Given the description of an element on the screen output the (x, y) to click on. 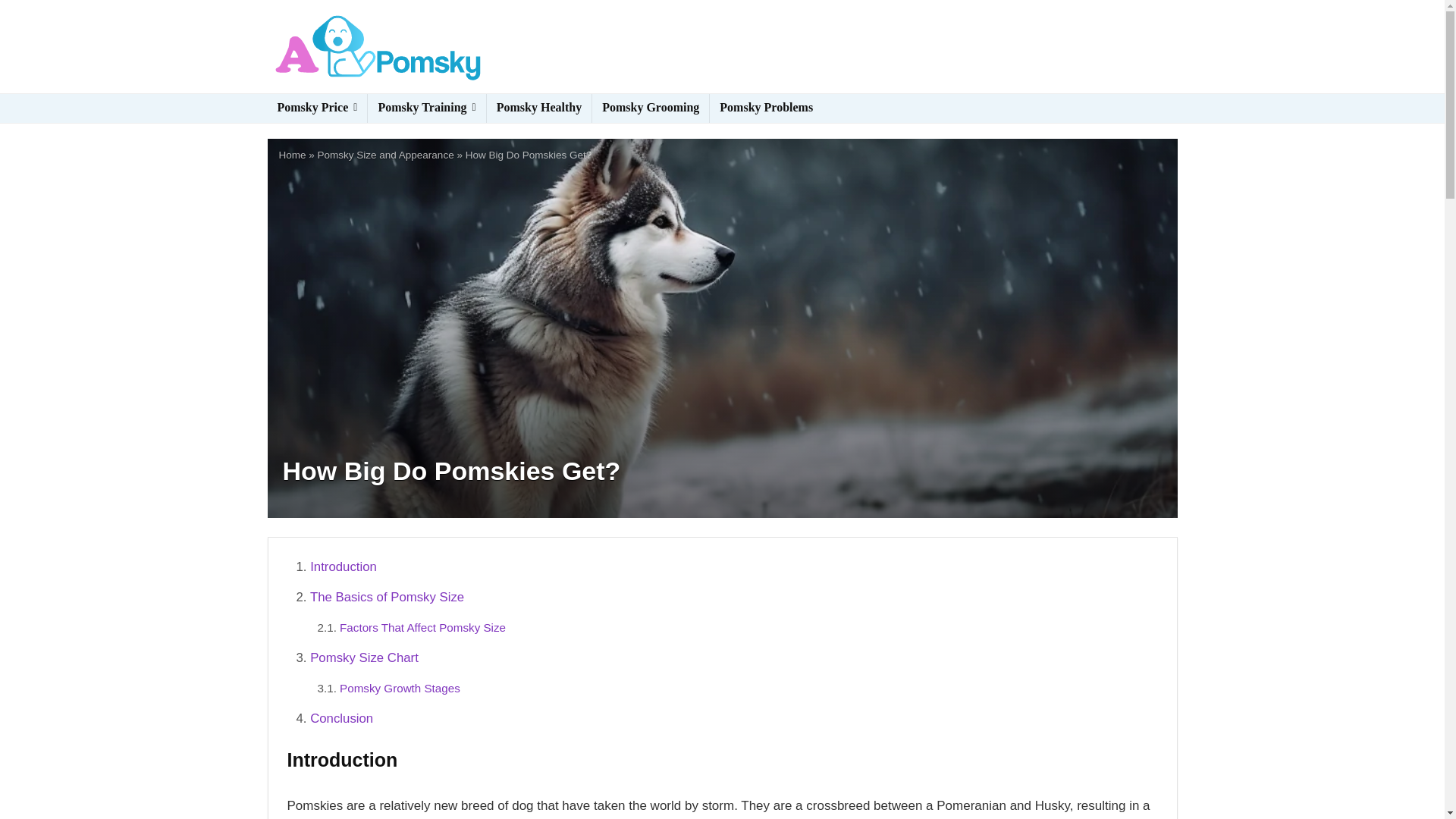
Factors That Affect Pomsky Size (422, 626)
Pomsky Growth Stages (399, 687)
Pomsky Problems (766, 108)
Home (292, 154)
Pomsky Healthy (538, 108)
Conclusion (341, 718)
Pomsky Grooming (650, 108)
Pomsky Price (316, 108)
Pomsky Training (426, 108)
Introduction (343, 566)
Pomsky Size and Appearance (385, 154)
Pomsky Size Chart (364, 657)
The Basics of Pomsky Size (387, 596)
